Given the description of an element on the screen output the (x, y) to click on. 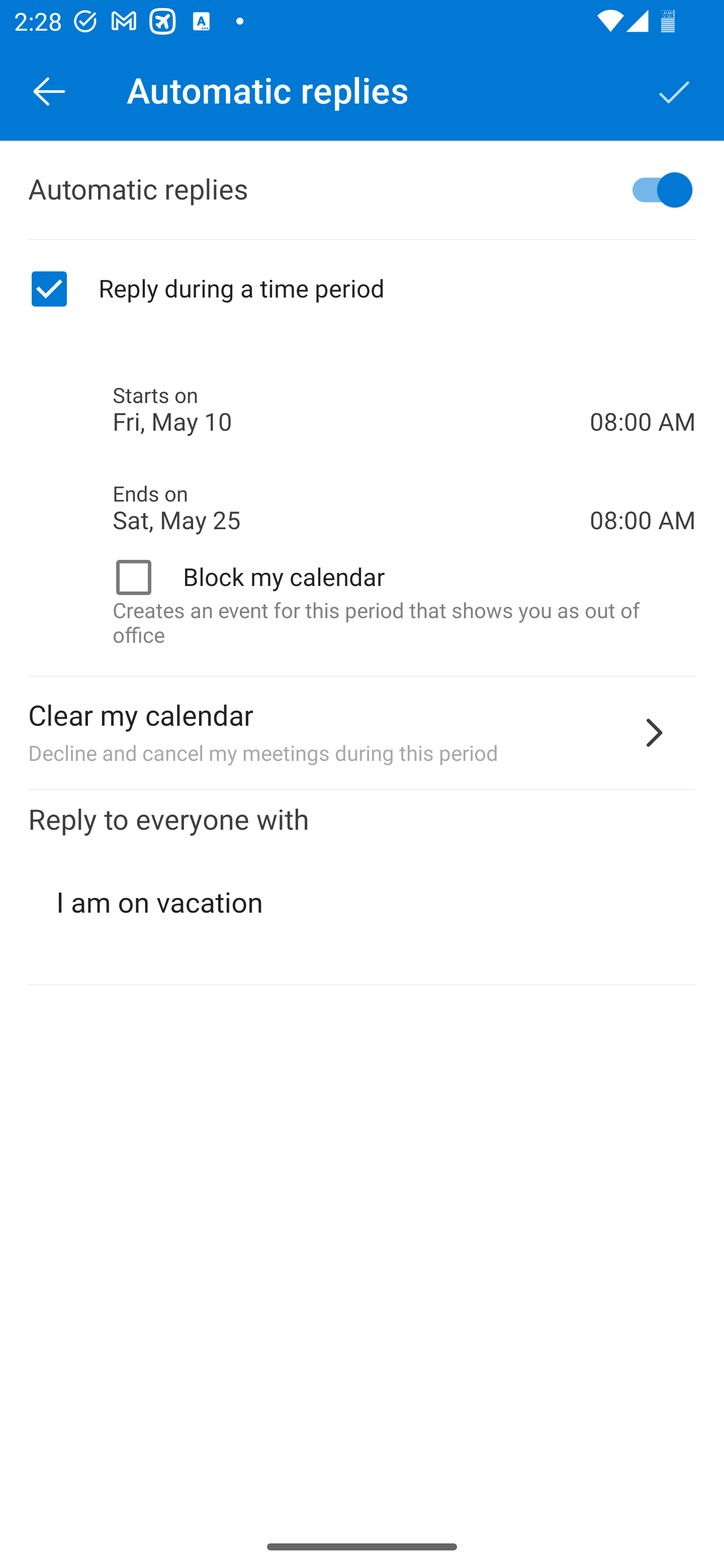
Back (49, 90)
Save (674, 90)
Automatic replies (362, 190)
Reply during a time period (362, 288)
08:00 AM (642, 387)
Starts on Fri, May 10 (351, 409)
08:00 AM (642, 485)
Ends on Sat, May 25 (351, 507)
Reply to everyone with Edit box I am on vacation (361, 887)
I am on vacation (363, 902)
